Given the description of an element on the screen output the (x, y) to click on. 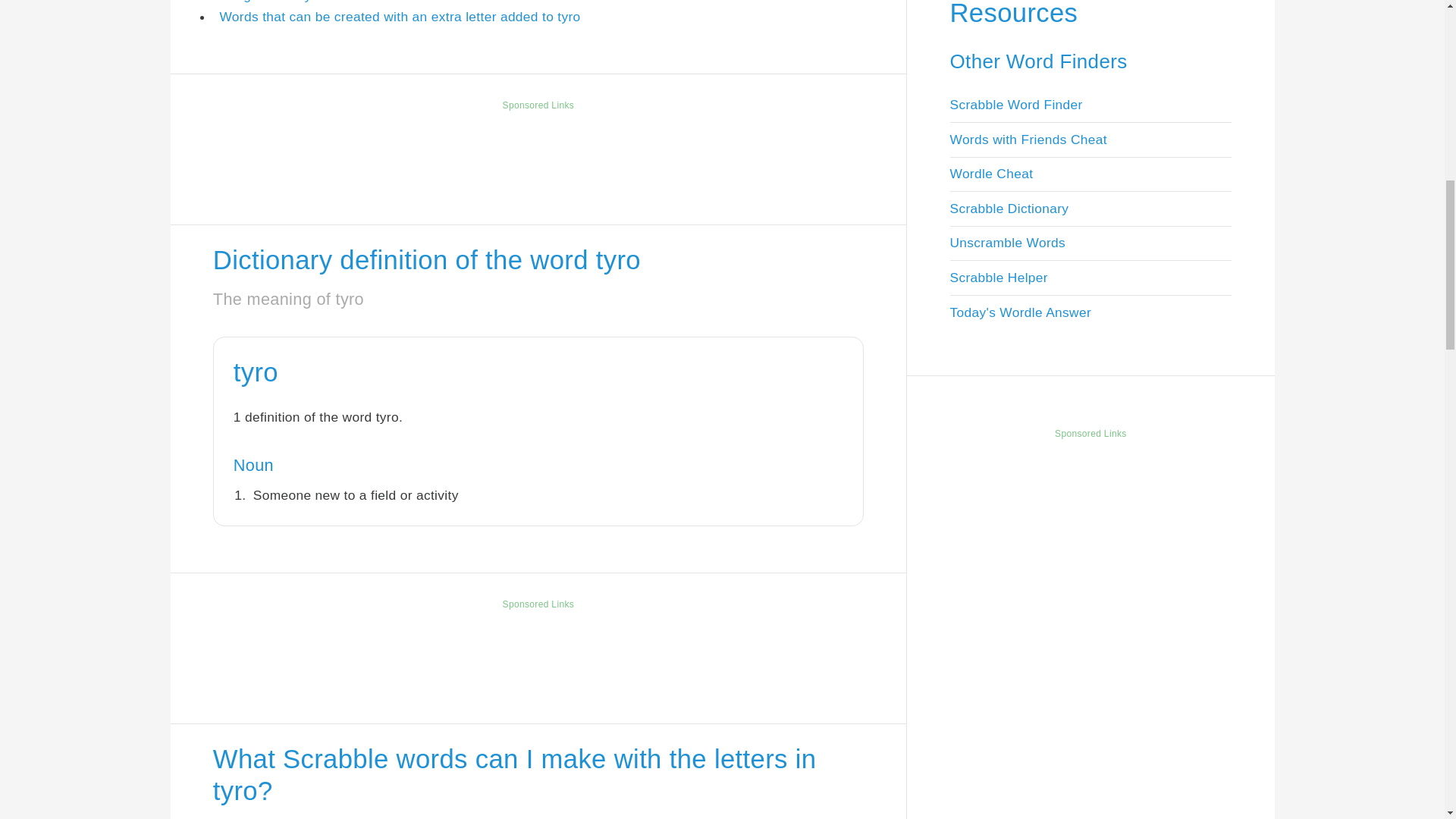
Words that can be created with an extra letter added to tyro (399, 16)
Anagrams of tyro (271, 1)
X (1434, 757)
